Given the description of an element on the screen output the (x, y) to click on. 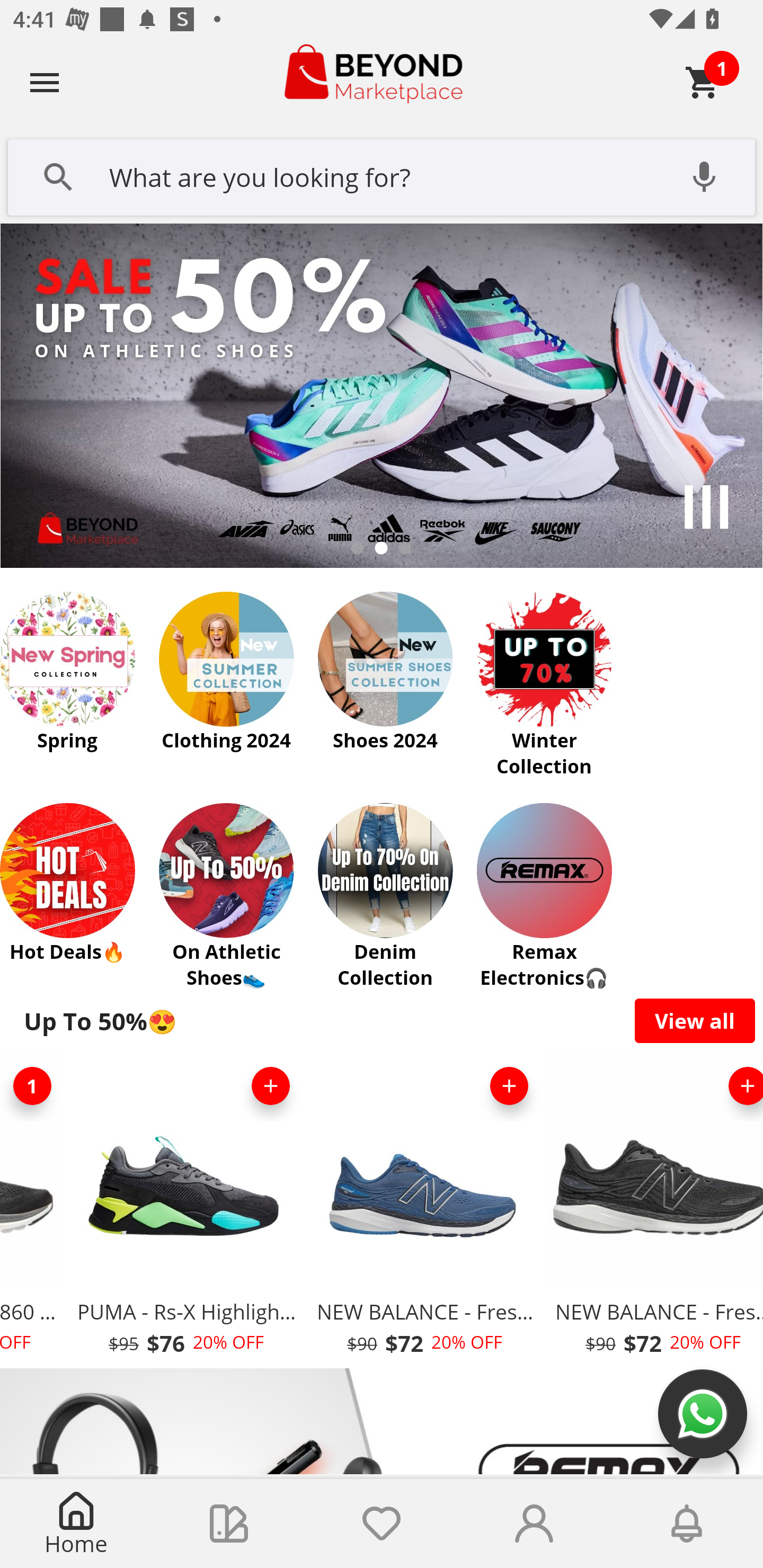
Navigate up (44, 82)
What are you looking for? (381, 175)
View all (694, 1020)
1 (33, 1085)
Collections (228, 1523)
Wishlist (381, 1523)
Account (533, 1523)
Notifications (686, 1523)
